Given the description of an element on the screen output the (x, y) to click on. 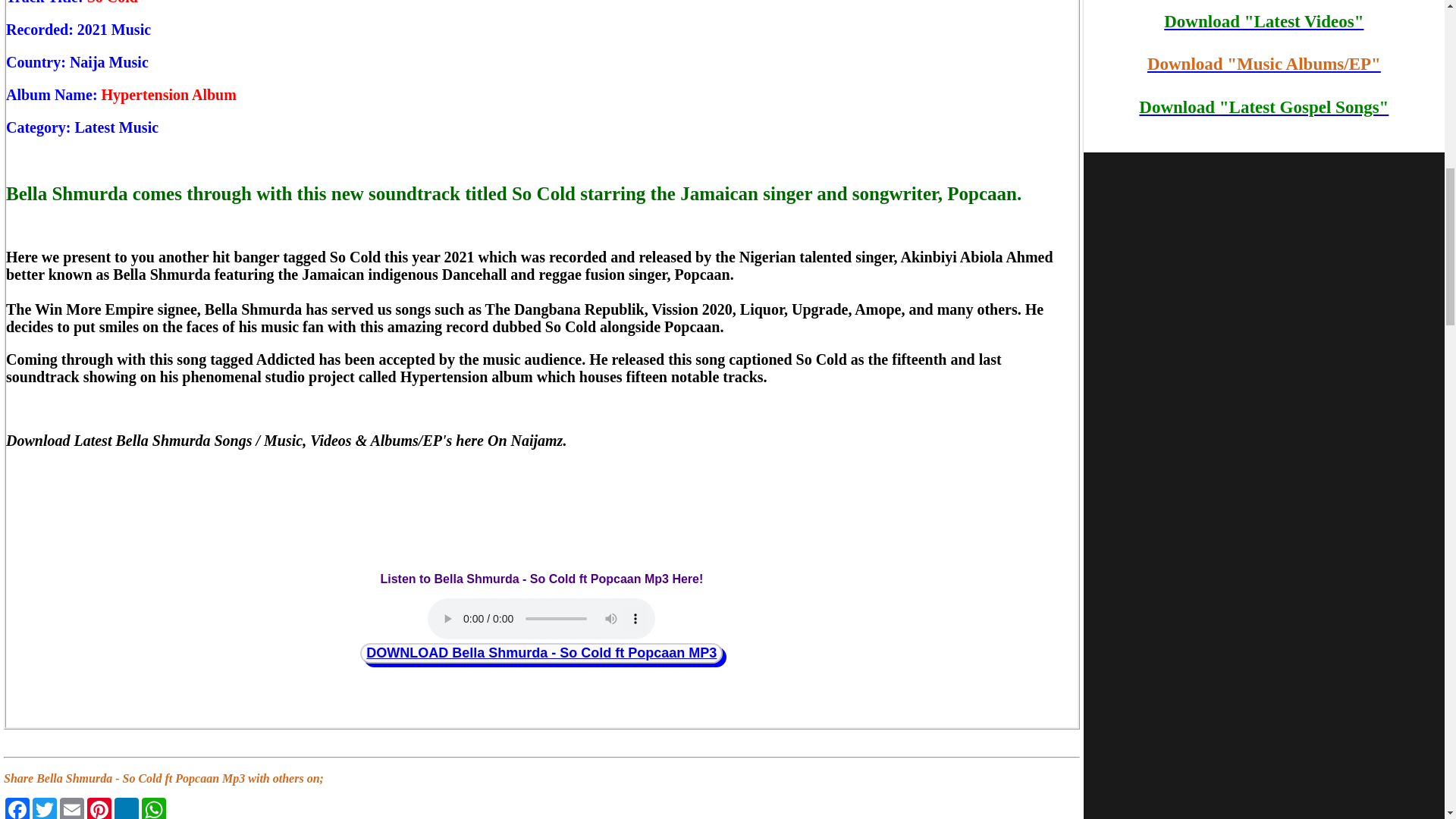
LinkedIn (126, 808)
Hypertension Album (168, 94)
Facebook (17, 808)
DOWNLOAD Bella Shmurda - So Cold ft Popcaan MP3 (541, 652)
DOWNLOAD Bella Shmurda - So Cold ft Popcaan MP3 (540, 652)
Naija Music (108, 62)
Twitter (44, 808)
2021 Music (114, 29)
Latest Music (116, 126)
Email (71, 808)
WhatsApp (153, 808)
Pinterest (99, 808)
